Given the description of an element on the screen output the (x, y) to click on. 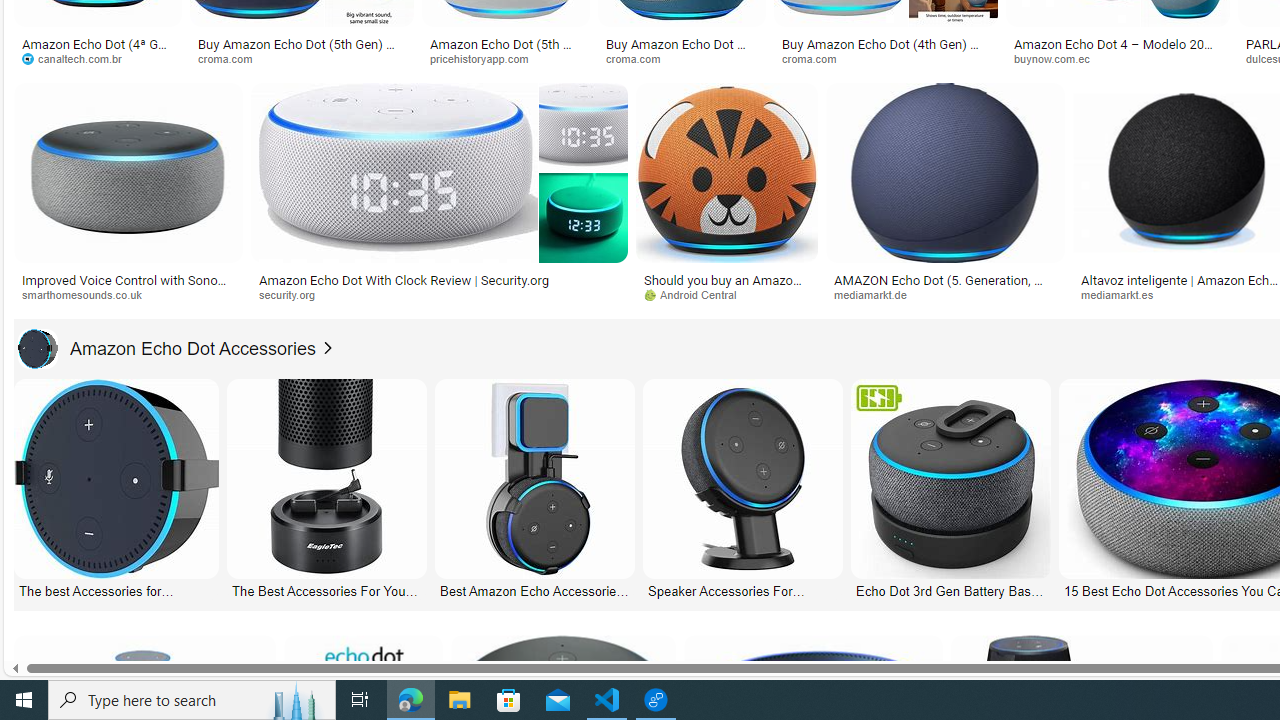
croma.com (885, 58)
Improved Voice Control with Sonos & Alexa Echo devices (128, 286)
buynow.com.ec (1117, 58)
